Given the description of an element on the screen output the (x, y) to click on. 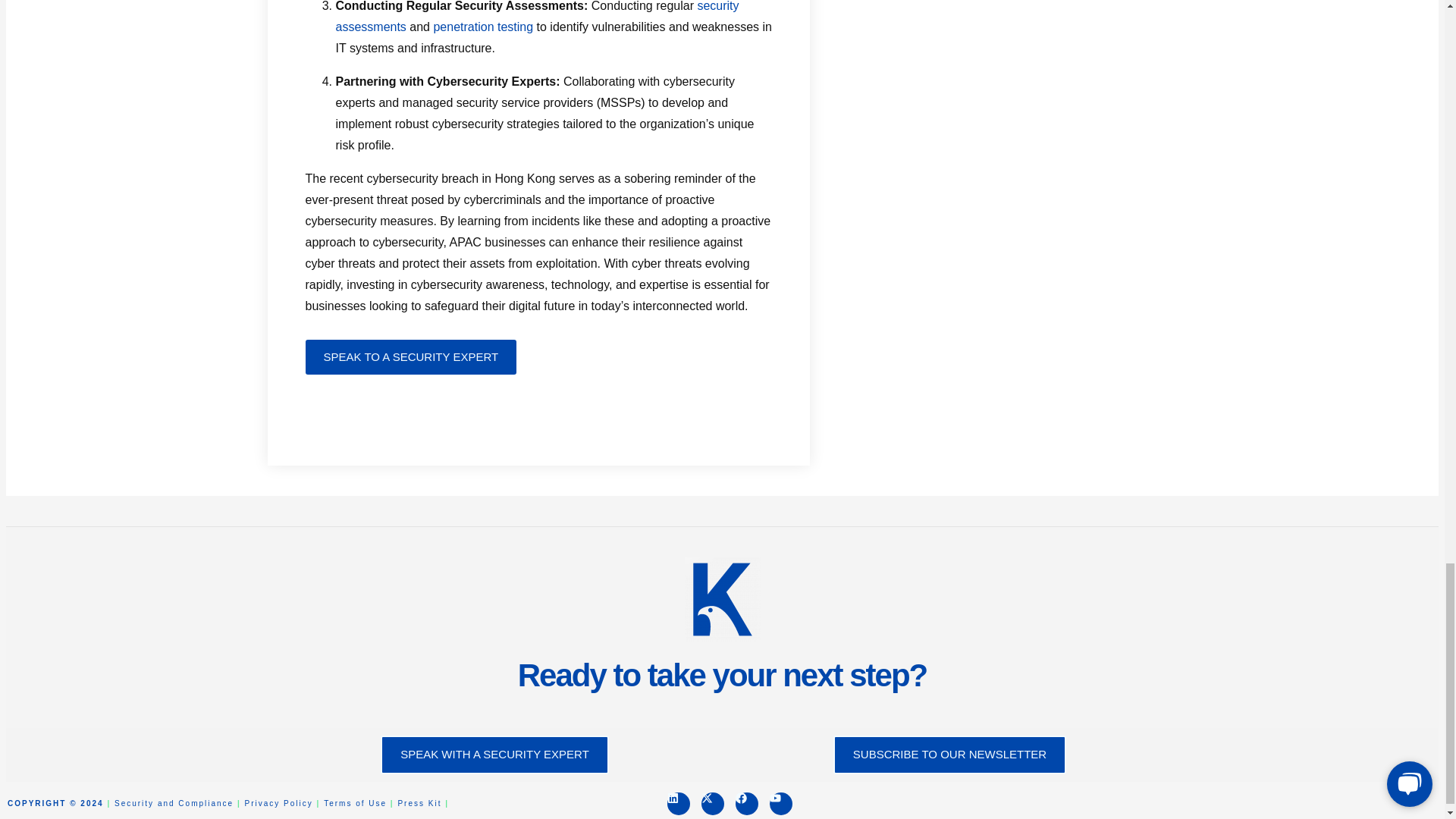
Kobalt-Logo (722, 599)
